Given the description of an element on the screen output the (x, y) to click on. 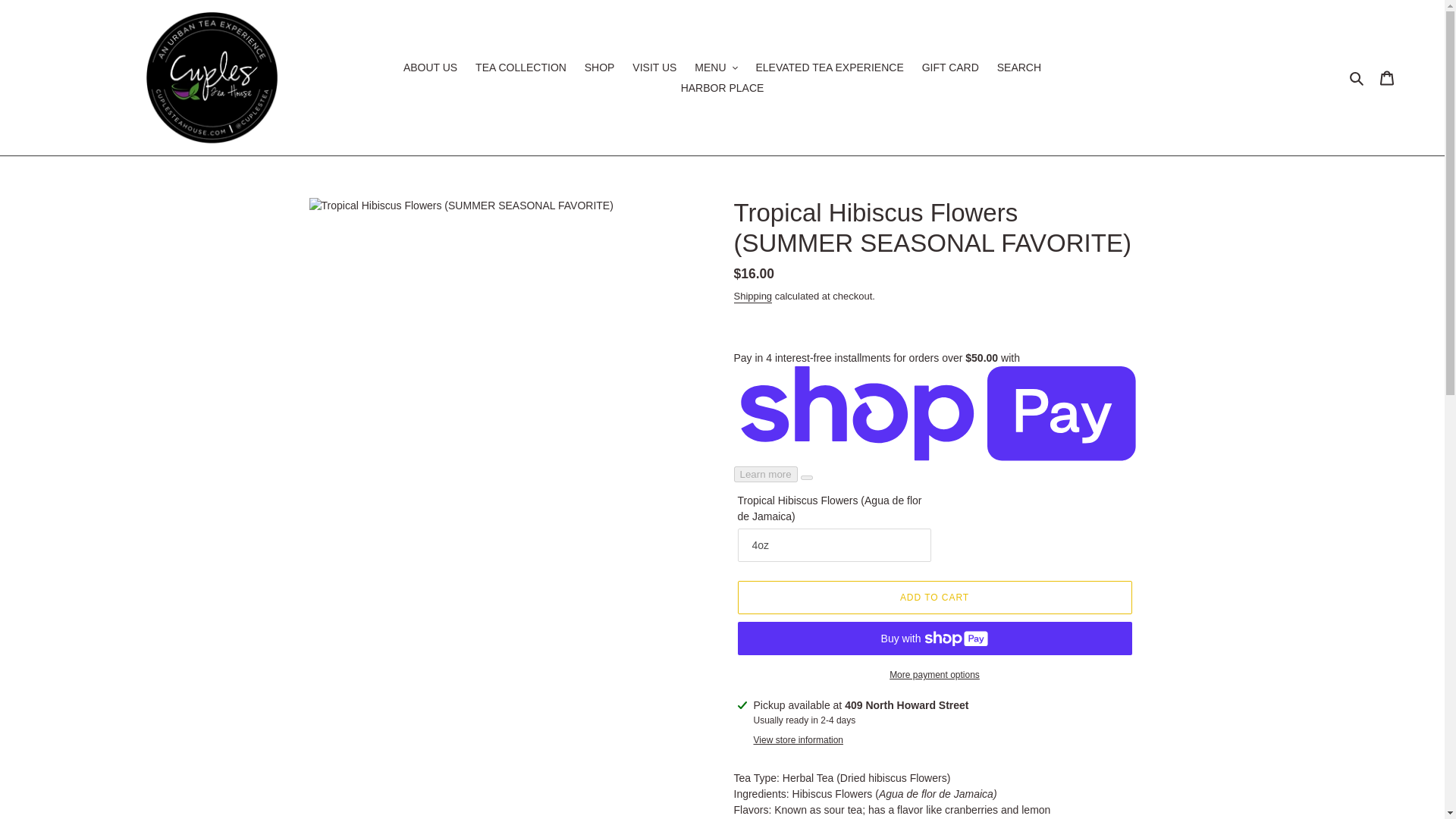
TEA COLLECTION (520, 67)
MENU (715, 67)
HARBOR PLACE (721, 86)
View store information (799, 739)
VISIT US (654, 67)
Shipping (753, 296)
SEARCH (1019, 67)
SHOP (599, 67)
GIFT CARD (950, 67)
Cart (1387, 77)
